Given the description of an element on the screen output the (x, y) to click on. 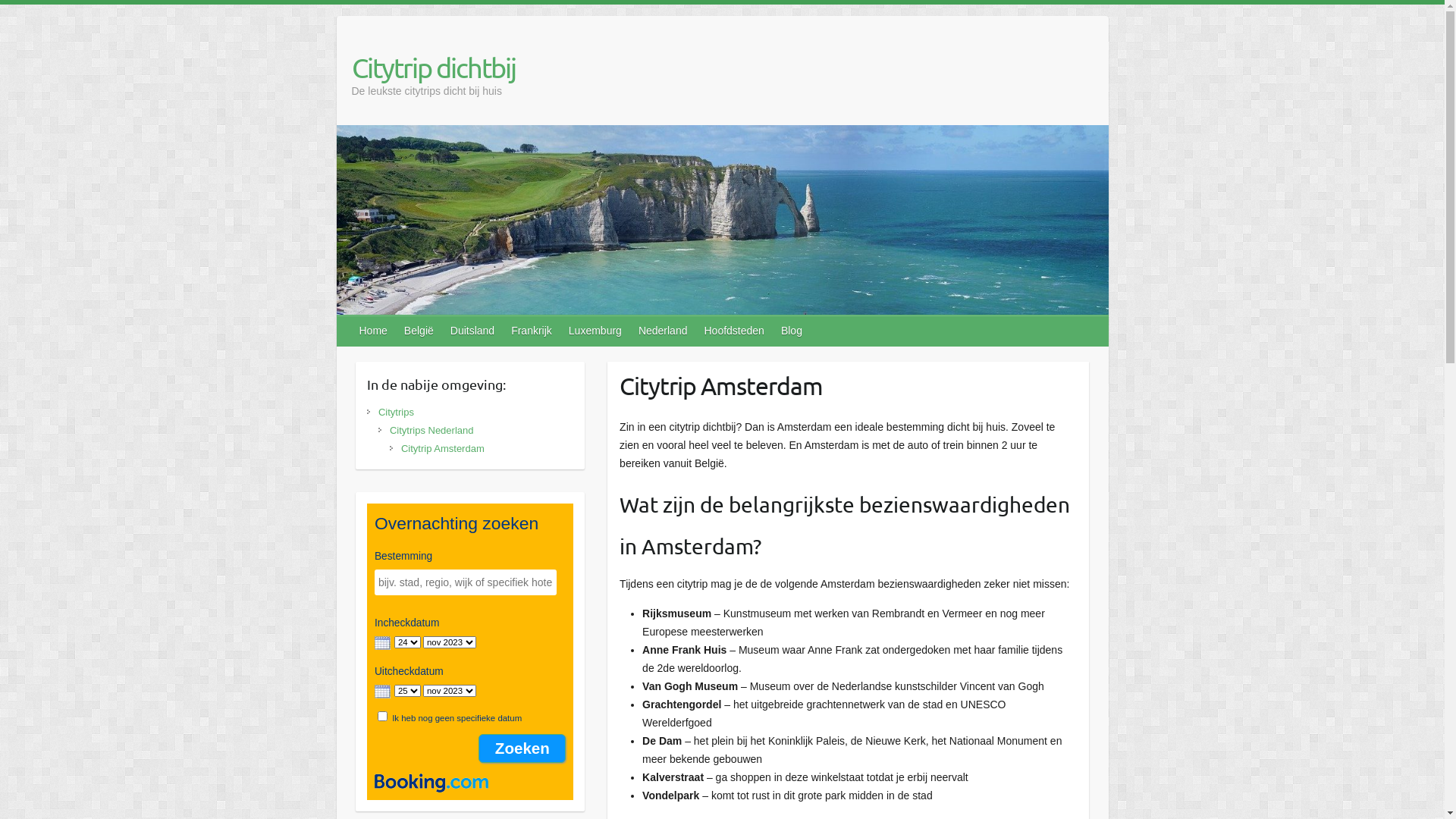
Citytrips Nederland Element type: text (431, 430)
Home Element type: text (373, 330)
Duitsland Element type: text (472, 330)
Doorgaan naar inhoud Element type: text (0, 4)
Hoofdsteden Element type: text (734, 330)
Citytrips Element type: text (396, 411)
Citytrip Amsterdam Element type: text (442, 448)
Open de kalender om een datum te kiezen Element type: hover (382, 642)
bijv. stad, regio, wijk of specifiek hotel Element type: hover (465, 582)
Frankrijk Element type: text (532, 330)
Nederland Element type: text (663, 330)
Luxemburg Element type: text (595, 330)
Blog Element type: text (792, 330)
Zoeken Element type: text (521, 748)
Open de kalender om een datum te kiezen Element type: hover (382, 691)
Citytrip dichtbij Element type: text (433, 67)
